Given the description of an element on the screen output the (x, y) to click on. 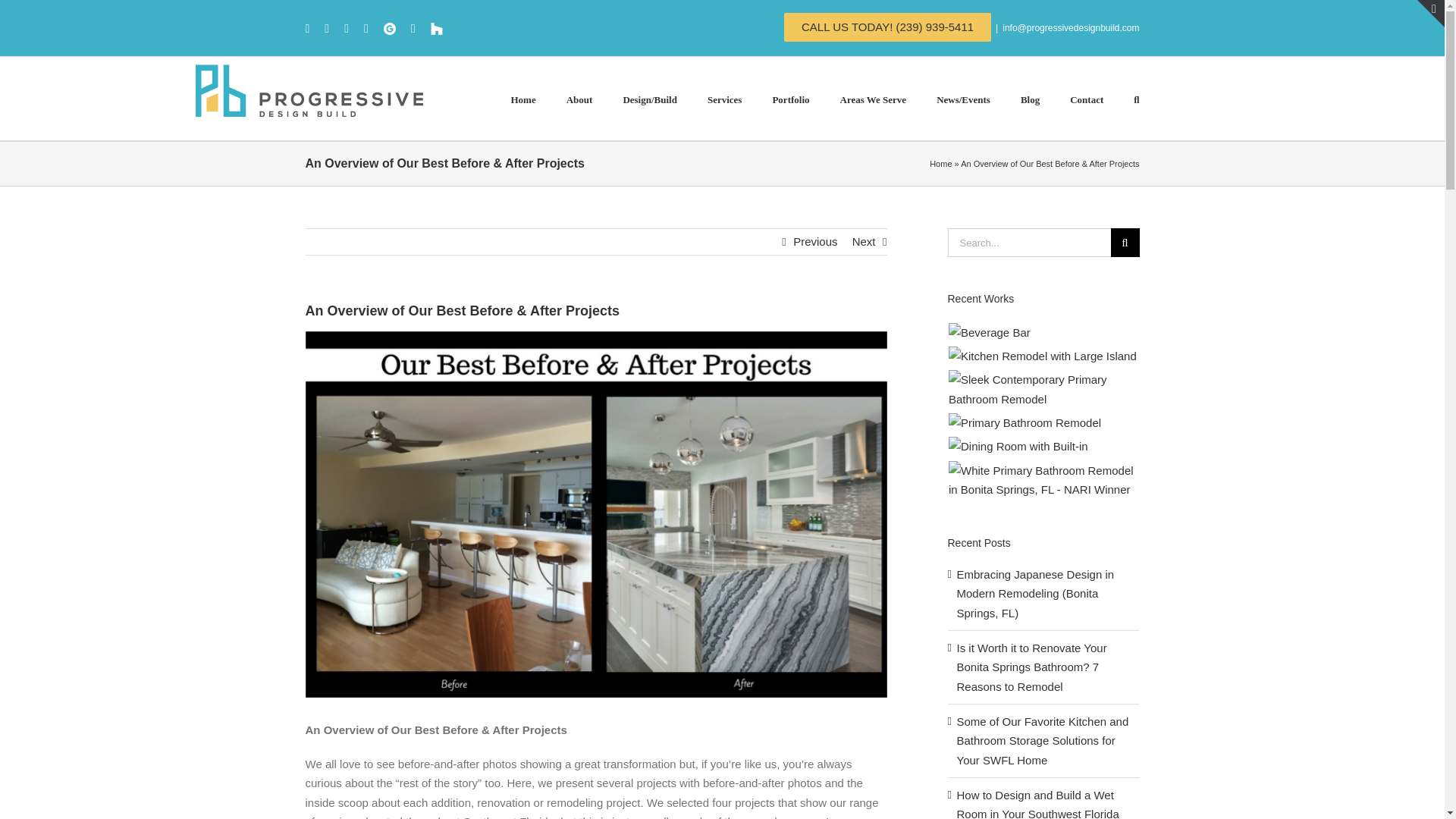
Google (390, 28)
Houzz (436, 28)
Houzz (436, 28)
Google (390, 28)
